Given the description of an element on the screen output the (x, y) to click on. 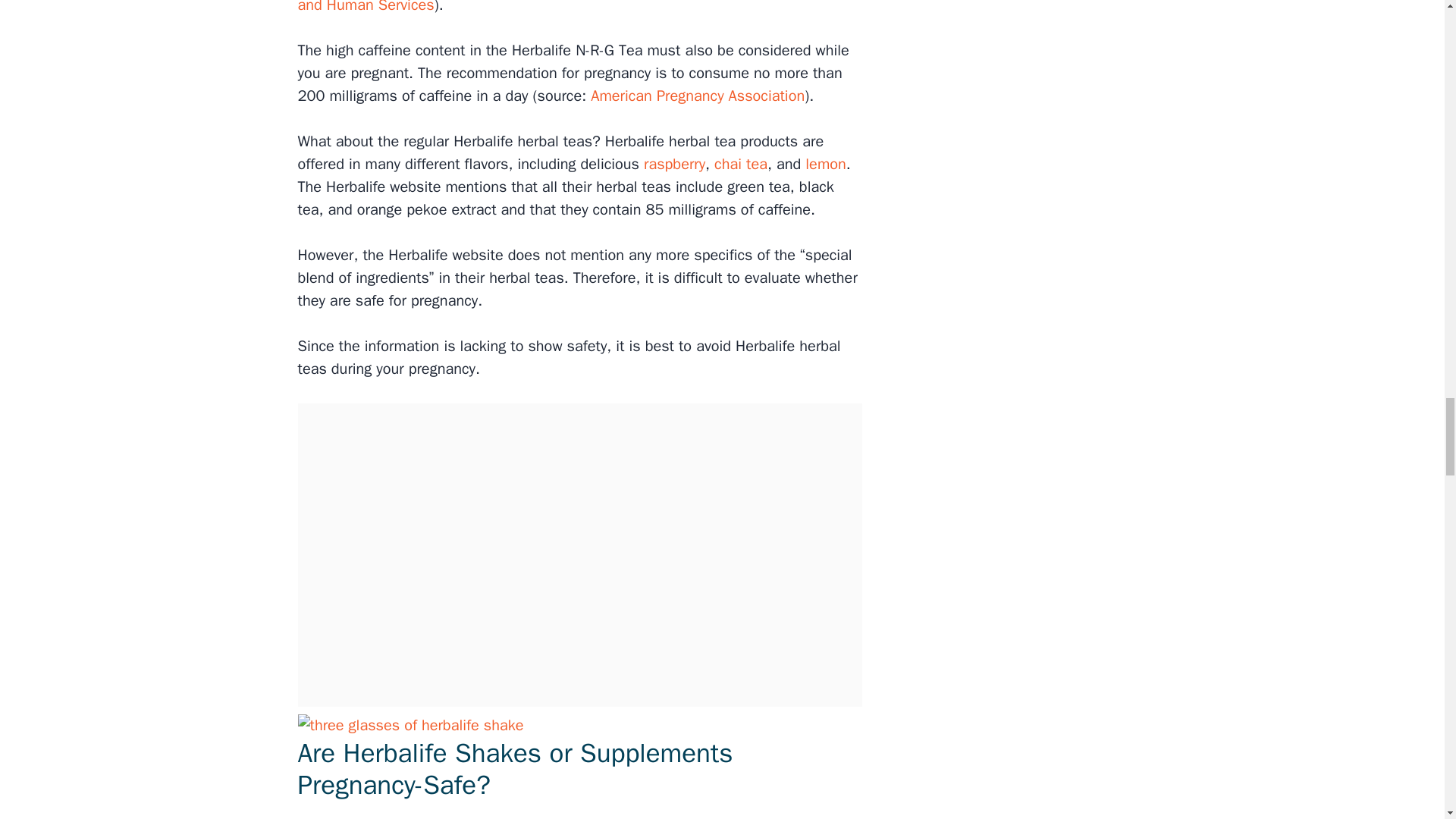
lemon (825, 163)
American Pregnancy Association (695, 95)
raspberry (673, 163)
chai tea (740, 163)
